Given the description of an element on the screen output the (x, y) to click on. 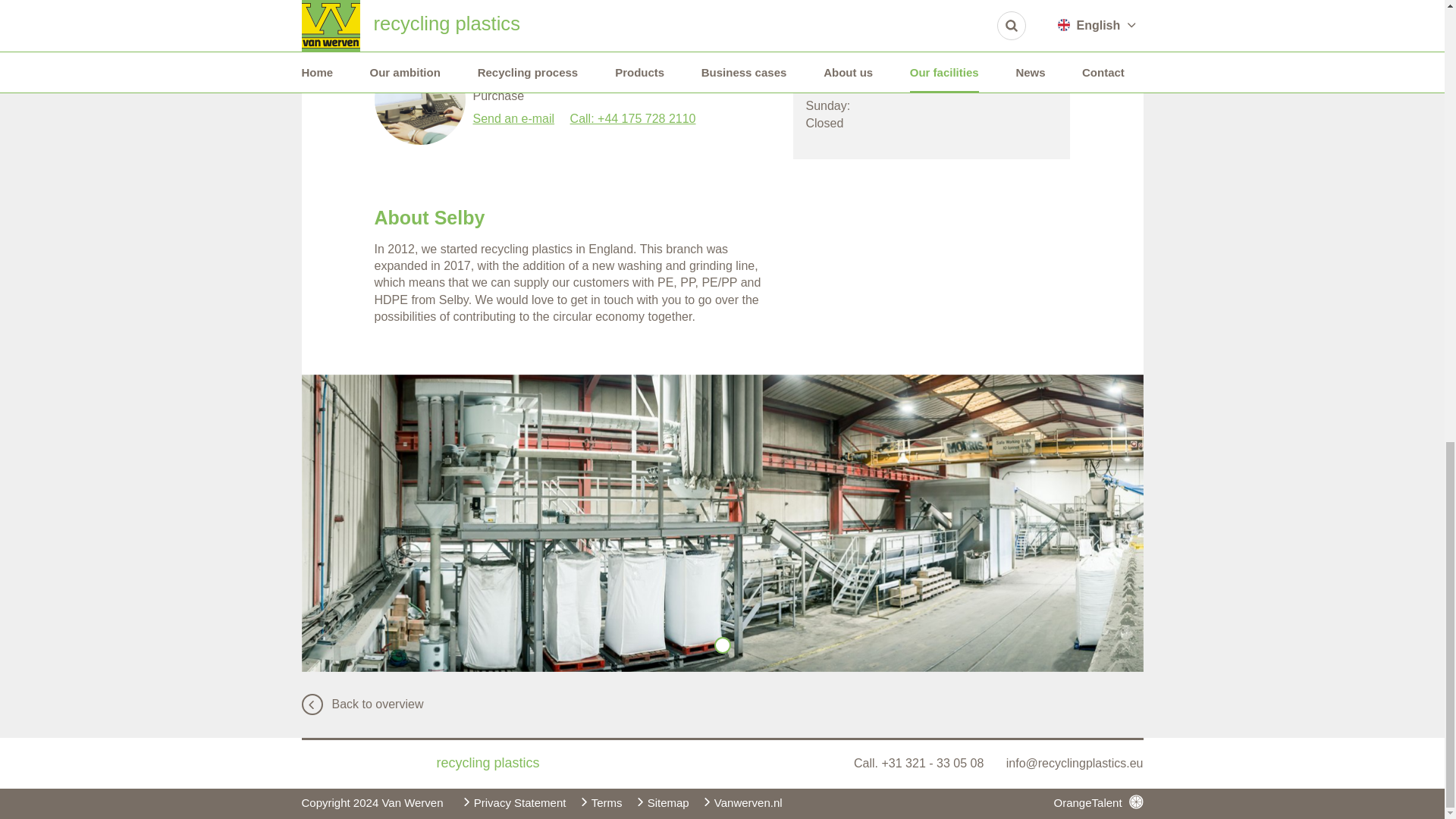
Send an e-mail (513, 15)
Call Van Werven Plastic Recycling (920, 762)
1 (722, 645)
OrangeTalent - Opvallend Online (1098, 801)
Mail Van Werven Plastic Recycling (1074, 762)
Send an e-mail (513, 118)
Back to overview (362, 704)
